Given the description of an element on the screen output the (x, y) to click on. 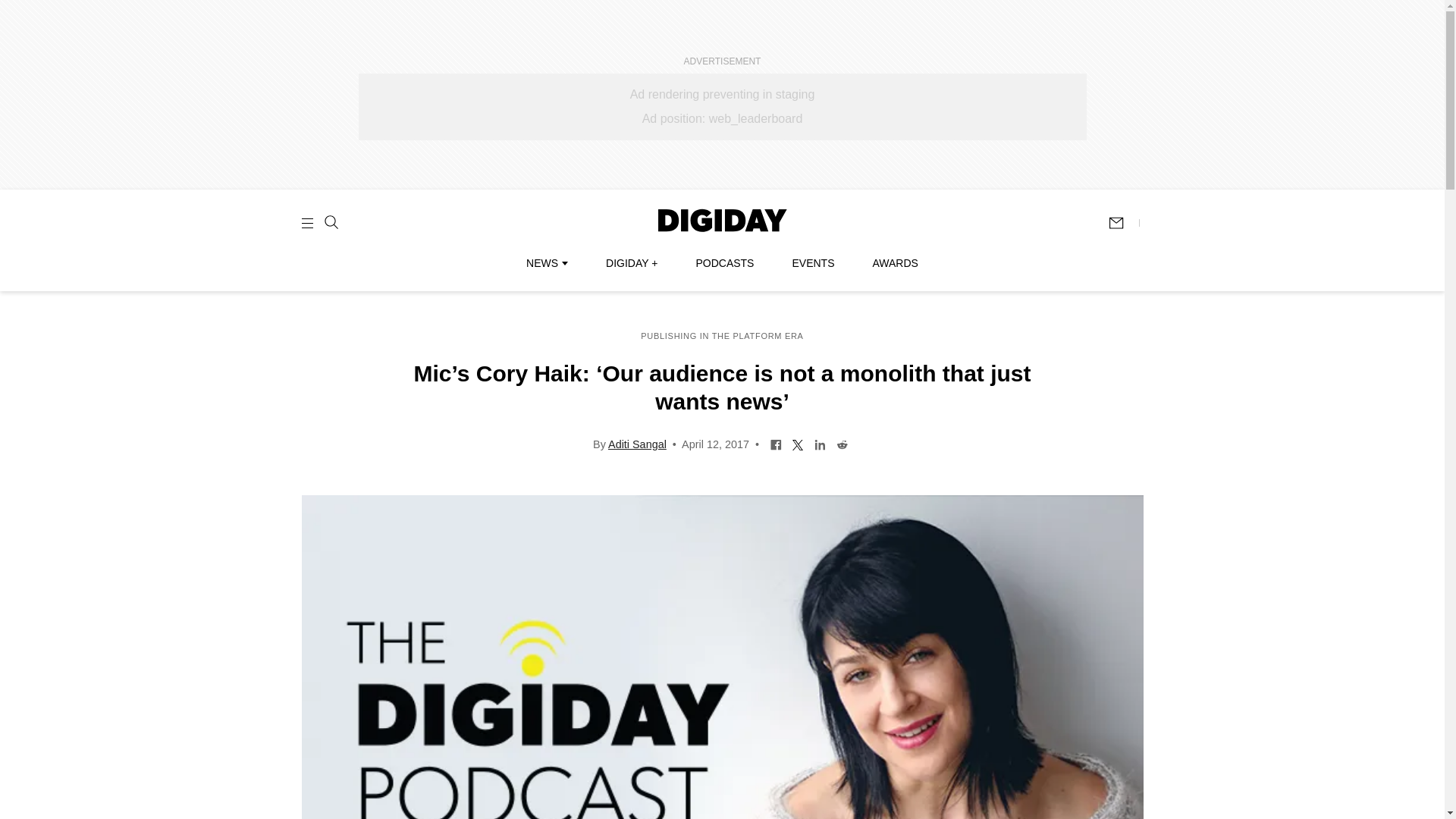
Share on Reddit (841, 443)
PODCASTS (725, 262)
Share on Twitter (798, 443)
NEWS (546, 262)
Subscribe (1123, 223)
AWARDS (894, 262)
Share on Facebook (776, 443)
EVENTS (813, 262)
Share on LinkedIn (820, 443)
